Given the description of an element on the screen output the (x, y) to click on. 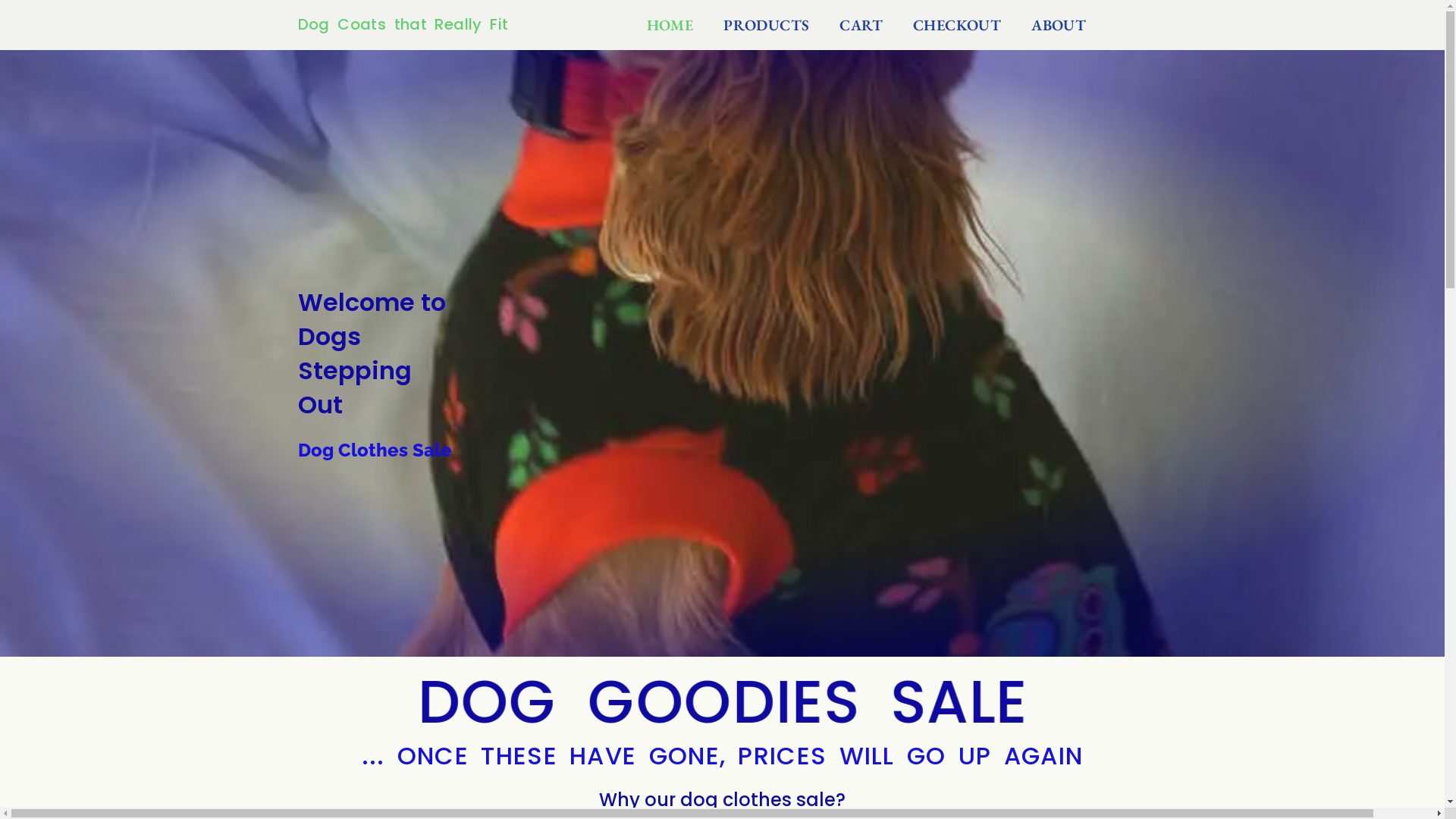
PRODUCTS Element type: text (766, 24)
ABOUT Element type: text (1058, 24)
CART Element type: text (860, 24)
CHECKOUT Element type: text (956, 24)
HOME Element type: text (670, 24)
Dog Coats that Really Fit Element type: text (402, 23)
